Given the description of an element on the screen output the (x, y) to click on. 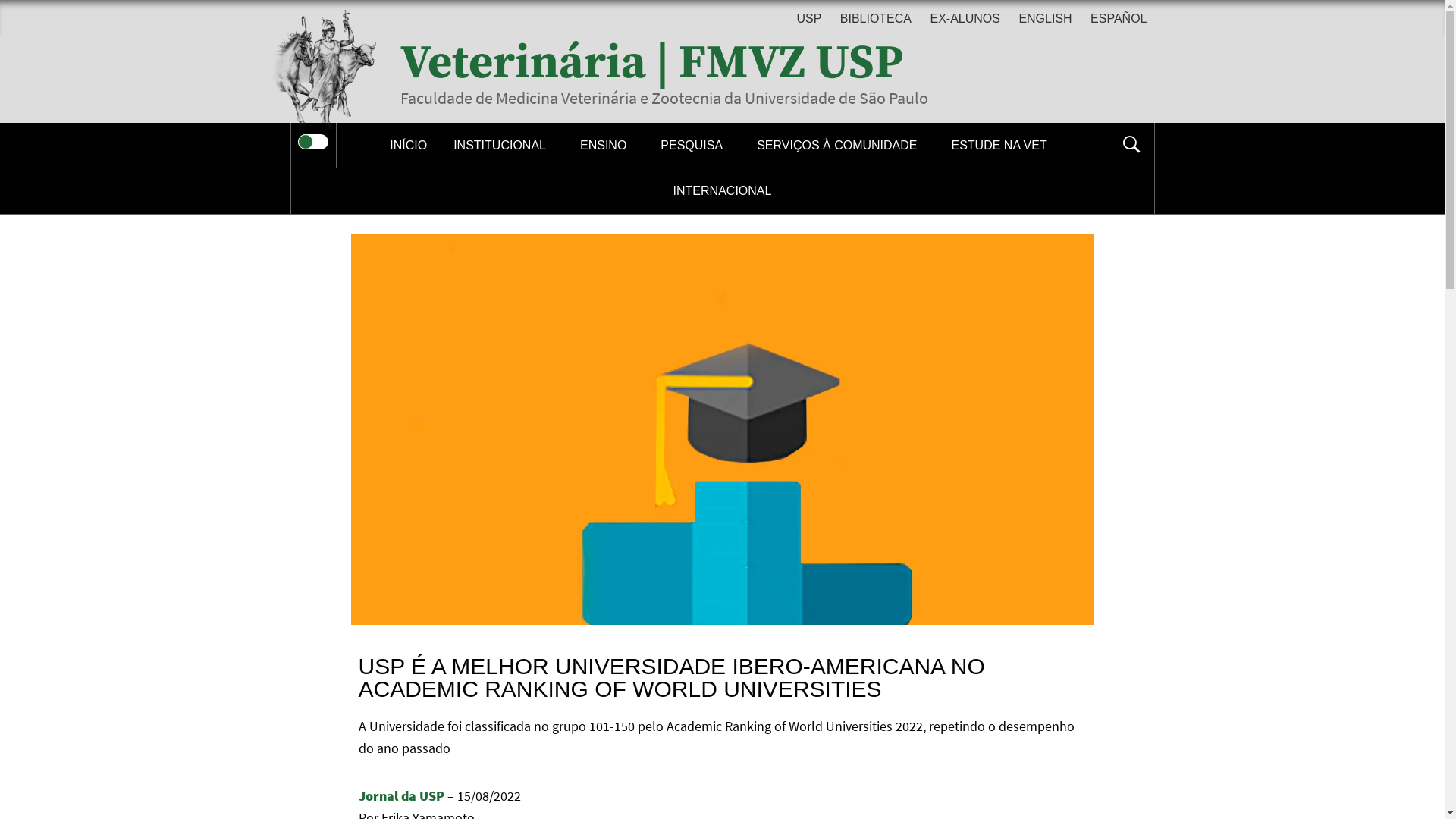
INSTITUCIONAL Element type: text (503, 145)
PESQUISA Element type: text (695, 145)
USP Element type: text (812, 19)
EX-ALUNOS Element type: text (964, 19)
ESTUDE NA VET Element type: text (1002, 145)
Jornal da USP Element type: text (400, 795)
ENGLISH Element type: text (1044, 19)
BIBLIOTECA Element type: text (875, 19)
INTERNACIONAL Element type: text (722, 190)
ENSINO Element type: text (606, 145)
Pesquisar Element type: text (797, 33)
